Given the description of an element on the screen output the (x, y) to click on. 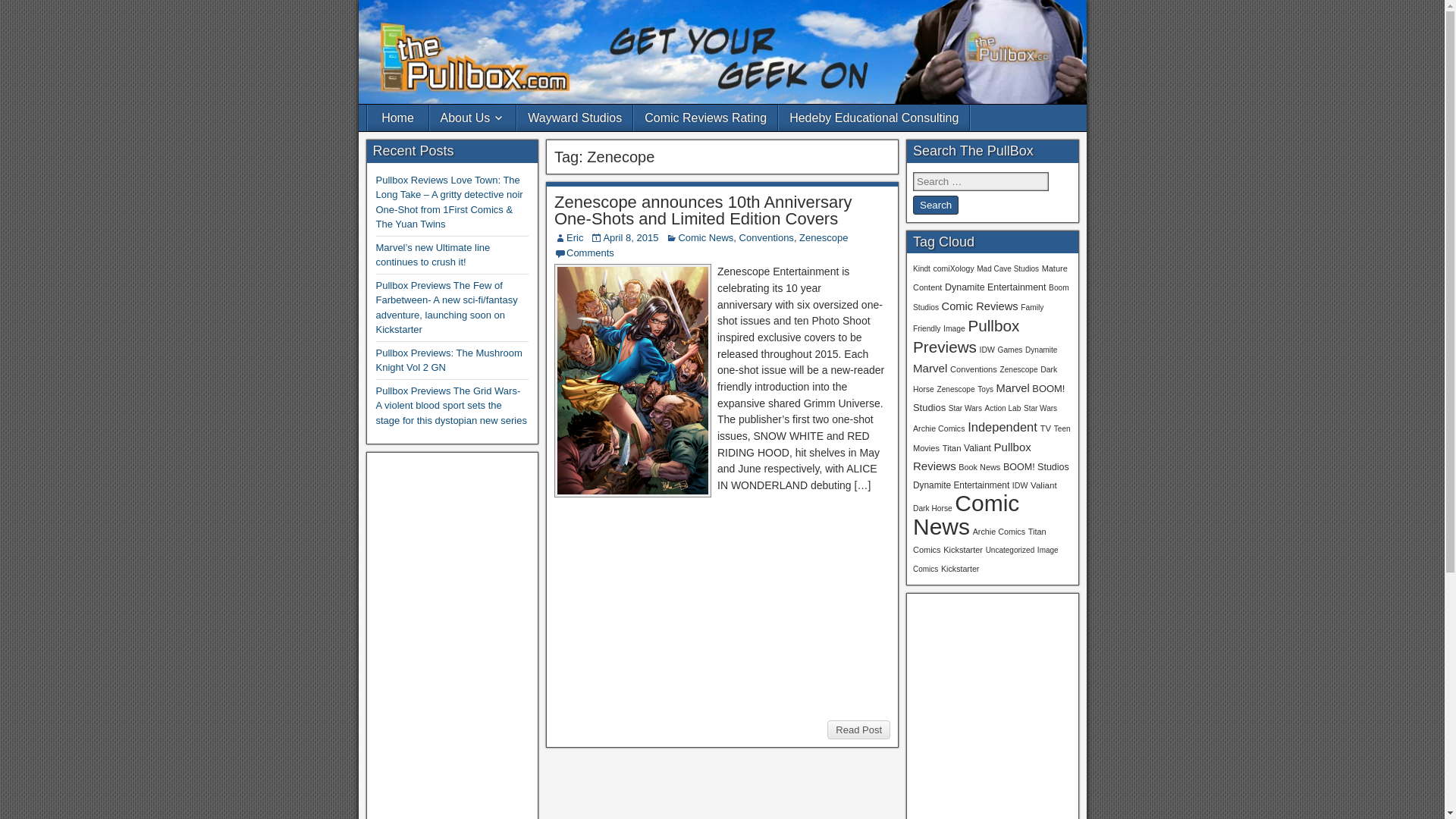
Search (935, 204)
Comments (590, 252)
Search (935, 204)
Hedeby Educational Consulting (873, 117)
Zenescope (823, 237)
Advertisement (721, 608)
Pullbox Previews: The Mushroom Knight Vol 2 GN (448, 360)
Comic News (705, 237)
Comic Reviews Rating (705, 117)
